Given the description of an element on the screen output the (x, y) to click on. 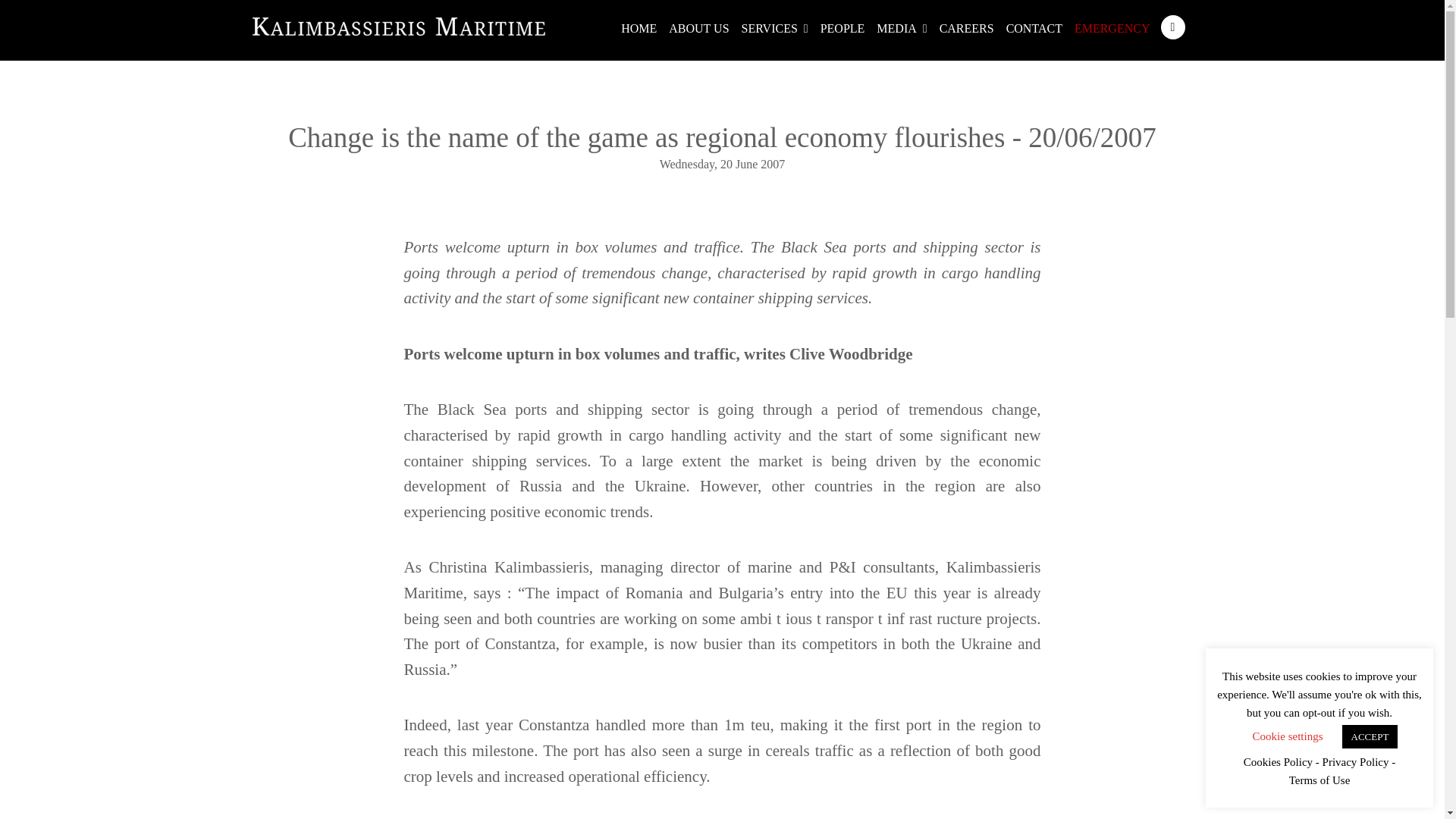
Terms of Use (1319, 780)
CAREERS (966, 28)
HOME (638, 28)
ABOUT US (698, 28)
Cookies Policy (1278, 762)
Search (1172, 27)
MEDIA (901, 28)
CONTACT (1034, 28)
SERVICES (774, 28)
Privacy Policy (1355, 762)
ACCEPT (1369, 736)
PEOPLE (842, 28)
EMERGENCY (1112, 28)
Cookie settings (1287, 736)
Kalimbassieris Maritime - Home page (397, 24)
